Given the description of an element on the screen output the (x, y) to click on. 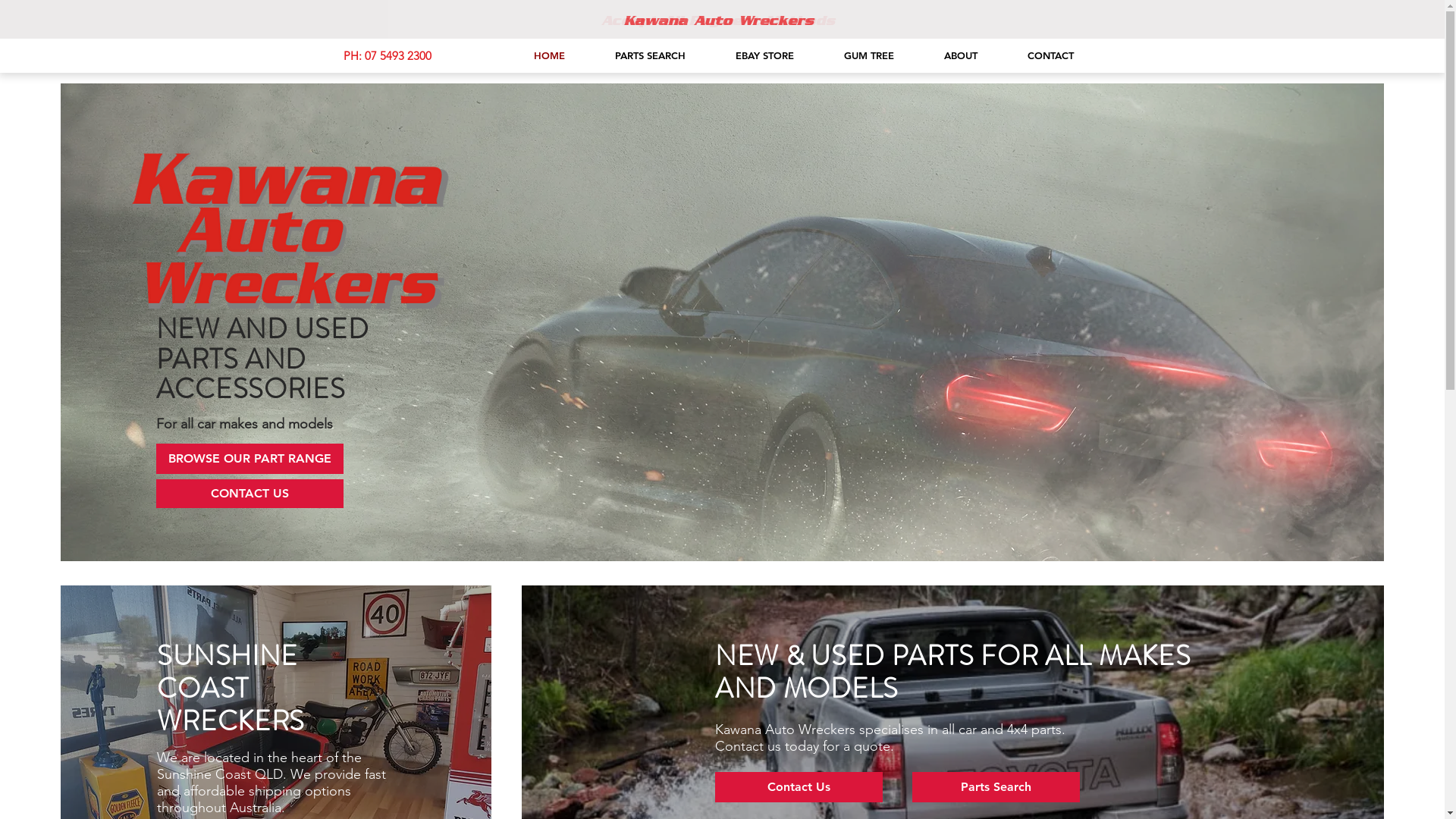
BROWSE OUR PART RANGE Element type: text (249, 458)
CONTACT US Element type: text (249, 493)
CONTACT Element type: text (1036, 54)
HOME Element type: text (534, 54)
GUM TREE Element type: text (855, 54)
Contact Us Element type: text (798, 786)
Parts Search Element type: text (995, 786)
EBAY STORE Element type: text (750, 54)
ABOUT Element type: text (946, 54)
PARTS SEARCH Element type: text (636, 54)
